Given the description of an element on the screen output the (x, y) to click on. 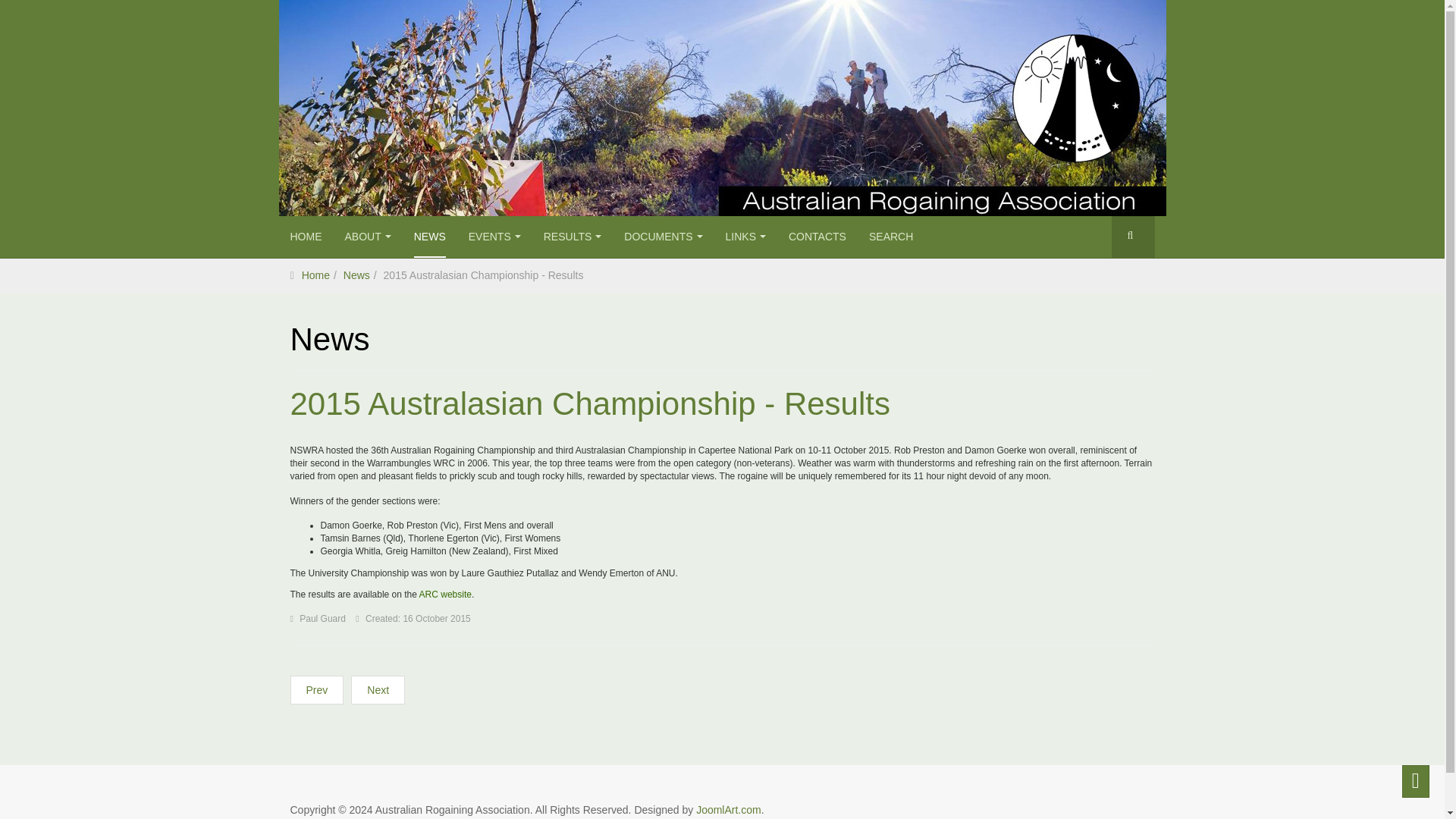
ABOUT (366, 236)
2015 Australasian Championship - Results (589, 403)
DOCUMENTS (662, 236)
RESULTS (572, 236)
Visit Joomlart.com! (728, 809)
EVENTS (494, 236)
